Given the description of an element on the screen output the (x, y) to click on. 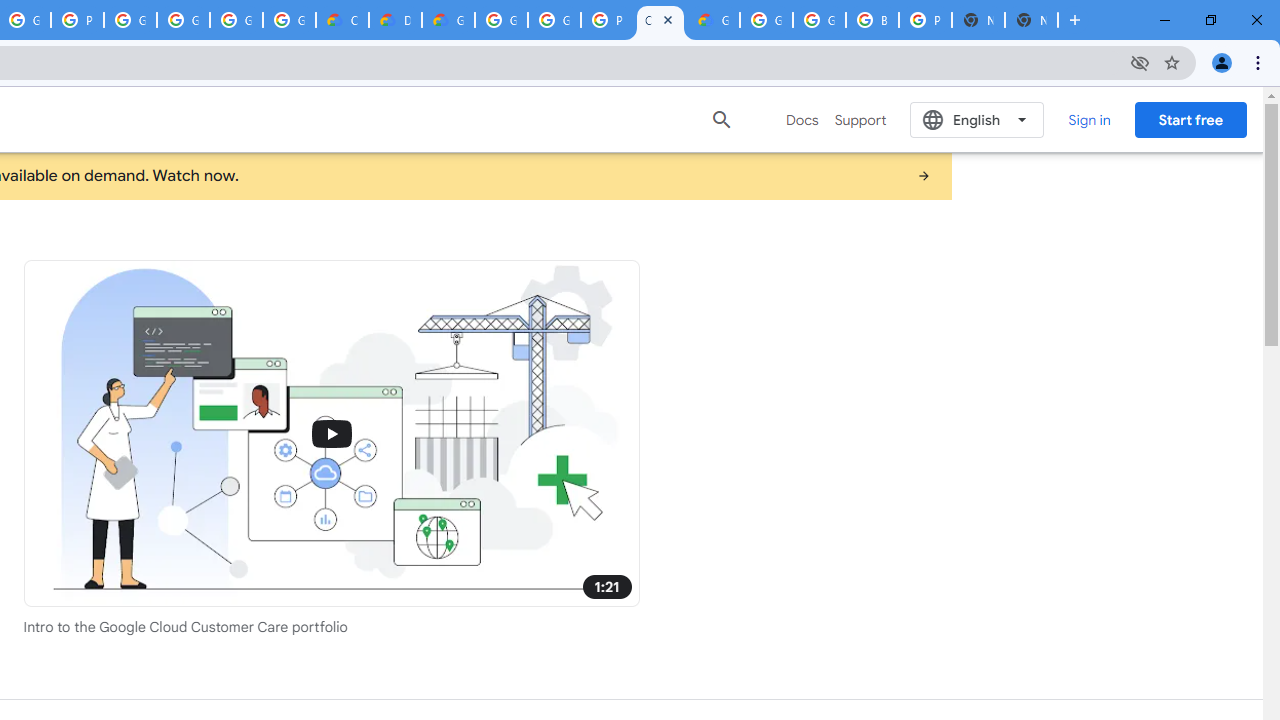
Google Cloud Service Health (713, 20)
Google Cloud Platform (819, 20)
Support (860, 119)
Google Cloud Platform (501, 20)
Gemini for Business and Developers | Google Cloud (448, 20)
Docs (802, 119)
Support illustration (331, 432)
